Given the description of an element on the screen output the (x, y) to click on. 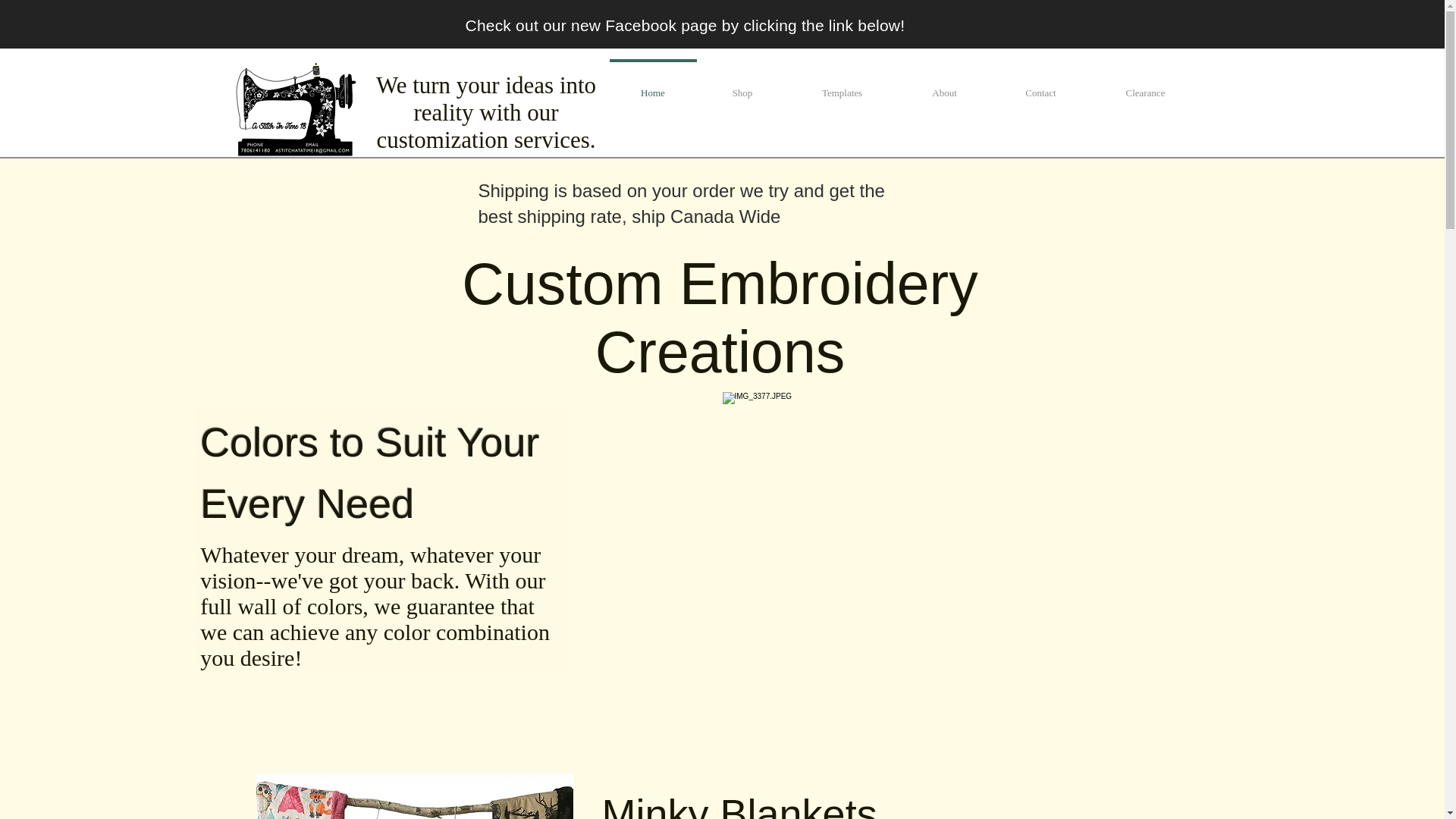
Templates (842, 85)
Shop (742, 85)
About (944, 85)
Home (652, 85)
Clearance (1144, 85)
Contact (1040, 85)
